Given the description of an element on the screen output the (x, y) to click on. 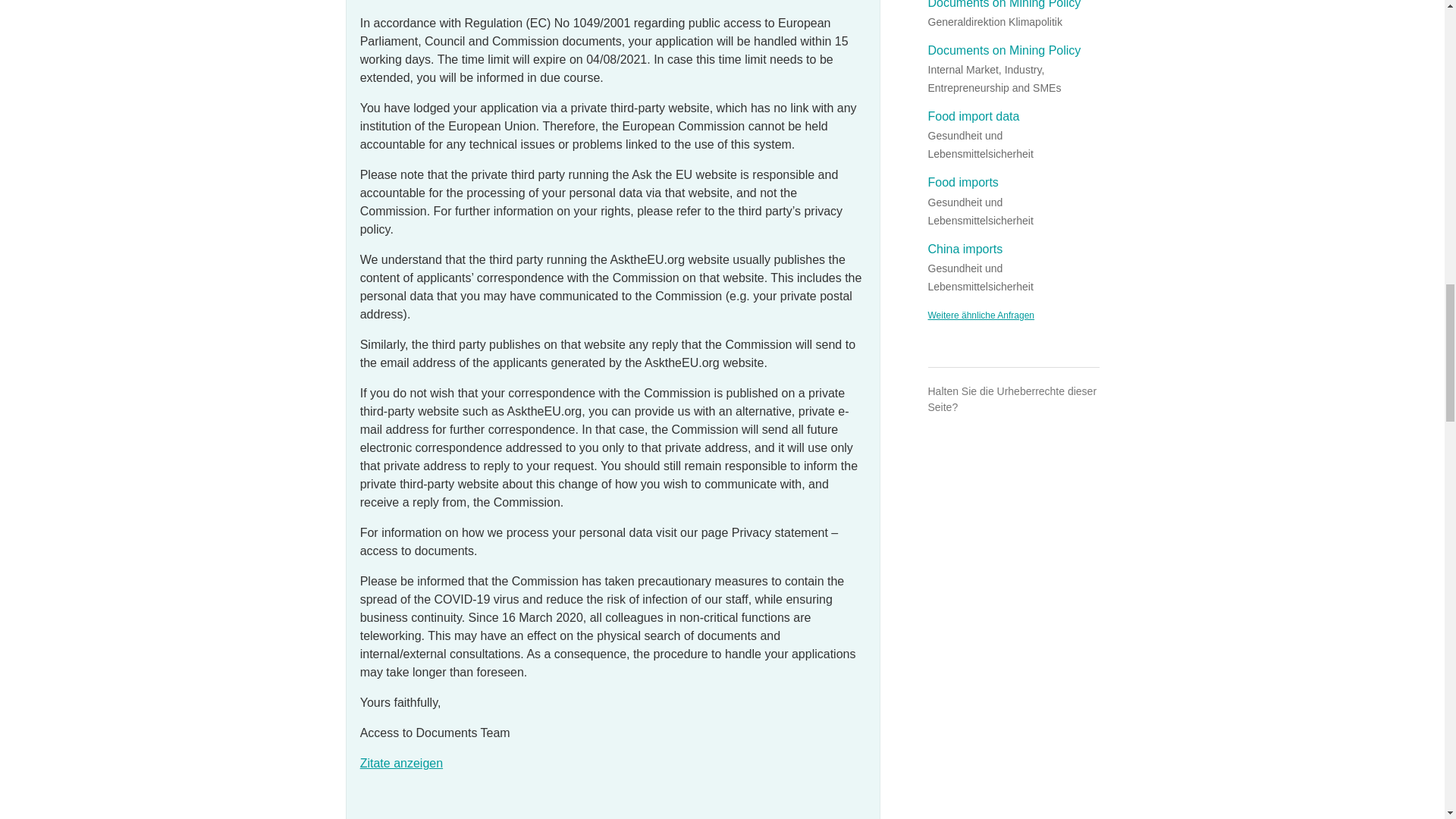
Zitate anzeigen (400, 762)
